Given the description of an element on the screen output the (x, y) to click on. 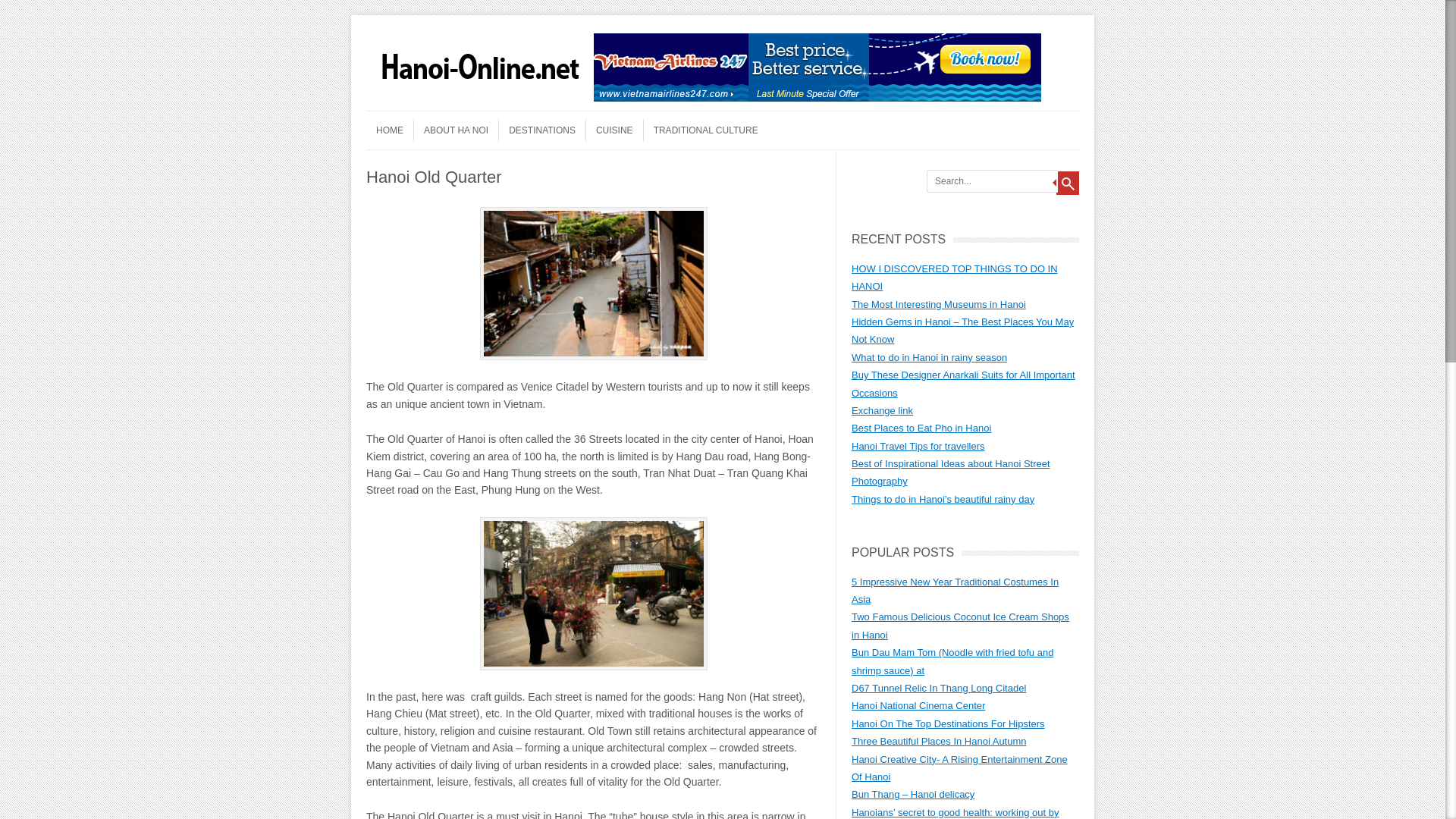
HOW I DISCOVERED TOP THINGS TO DO IN HANOI (954, 276)
What to do in Hanoi in rainy season (929, 357)
hanoi online (480, 97)
TRADITIONAL CULTURE (705, 129)
ABOUT HA NOI (455, 129)
CUISINE (614, 129)
Skip to content (396, 115)
HOME (389, 129)
Hanoi Travel Tips for travellers (918, 446)
Two Famous Delicious Coconut Ice Cream Shops in Hanoi (959, 624)
